Given the description of an element on the screen output the (x, y) to click on. 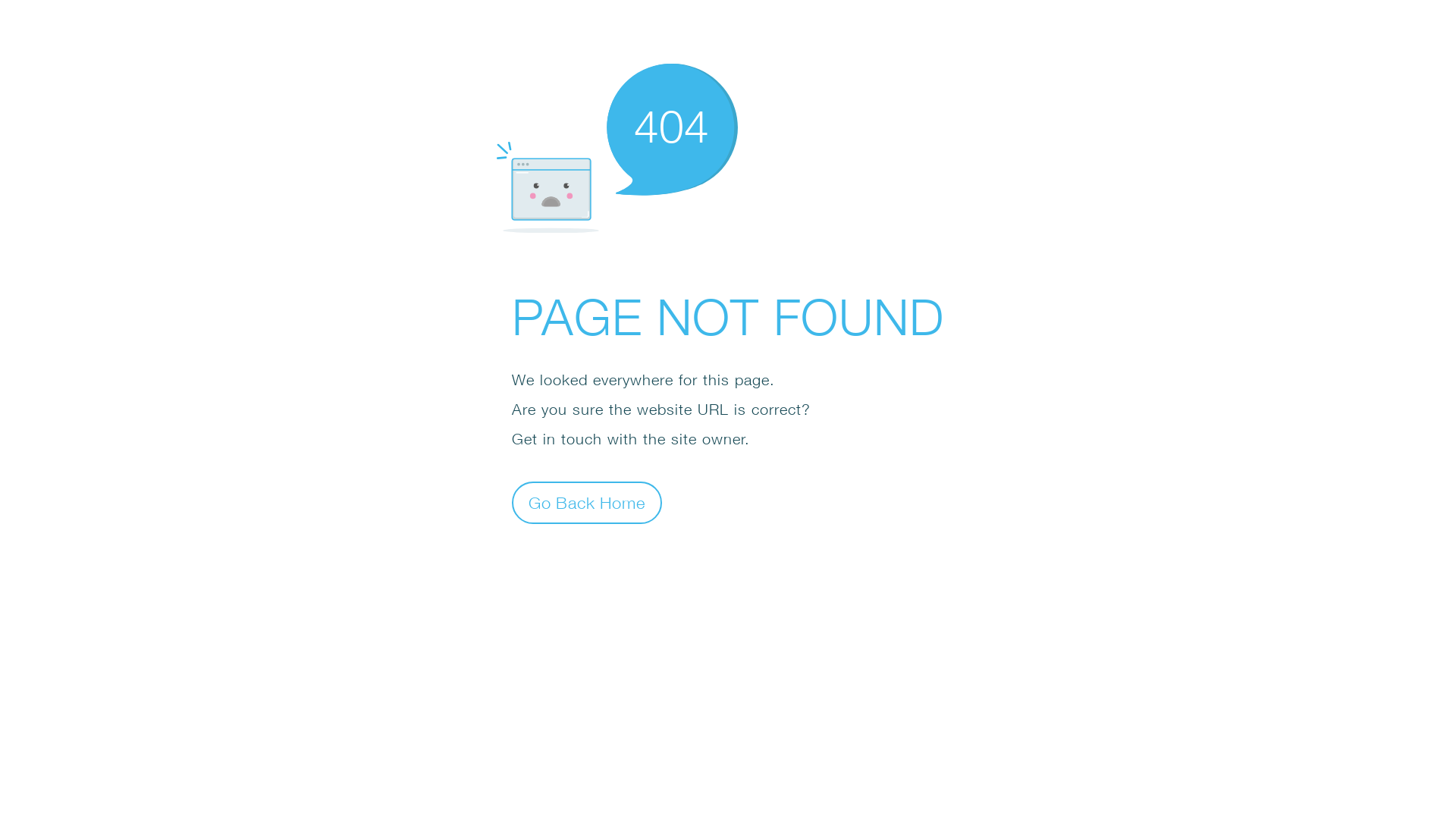
Go Back Home Element type: text (586, 502)
